Given the description of an element on the screen output the (x, y) to click on. 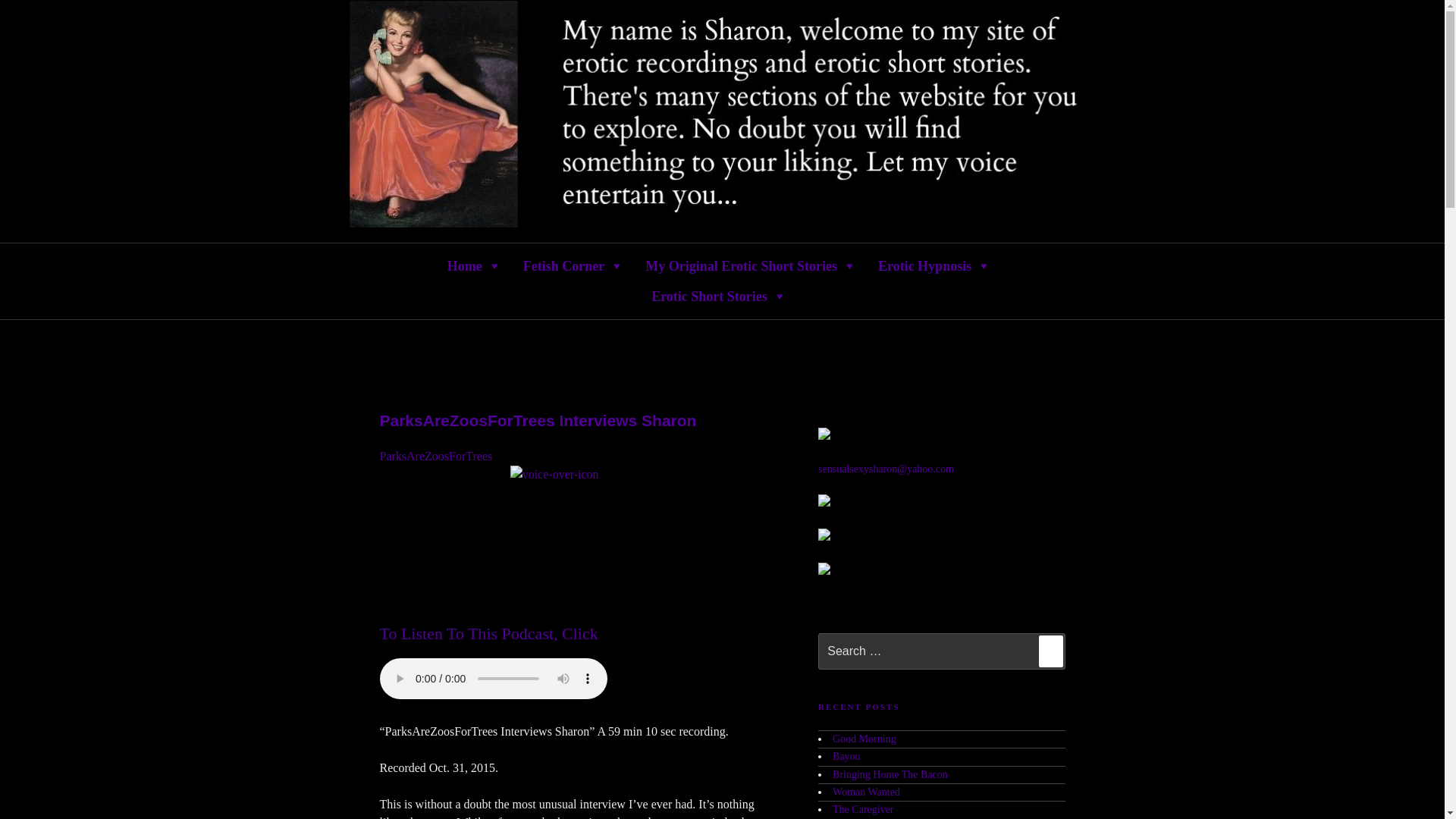
Home (473, 265)
Fetish Corner (572, 265)
My Original Erotic Short Stories (750, 265)
